Given the description of an element on the screen output the (x, y) to click on. 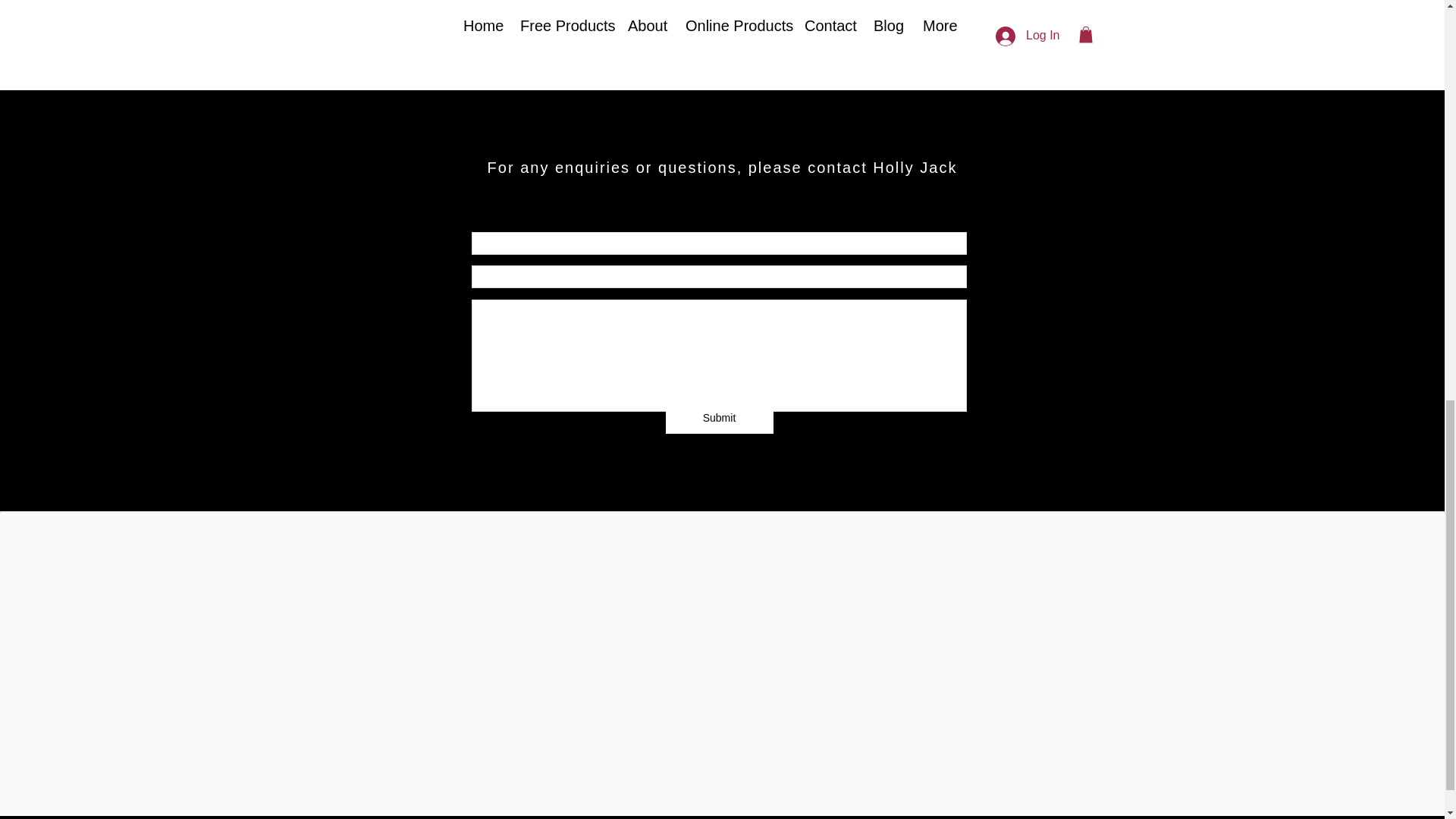
Wix.com (856, 784)
Store Policy    (719, 703)
Payment Methods  (918, 703)
Submit (719, 418)
FAQ  (487, 703)
